Given the description of an element on the screen output the (x, y) to click on. 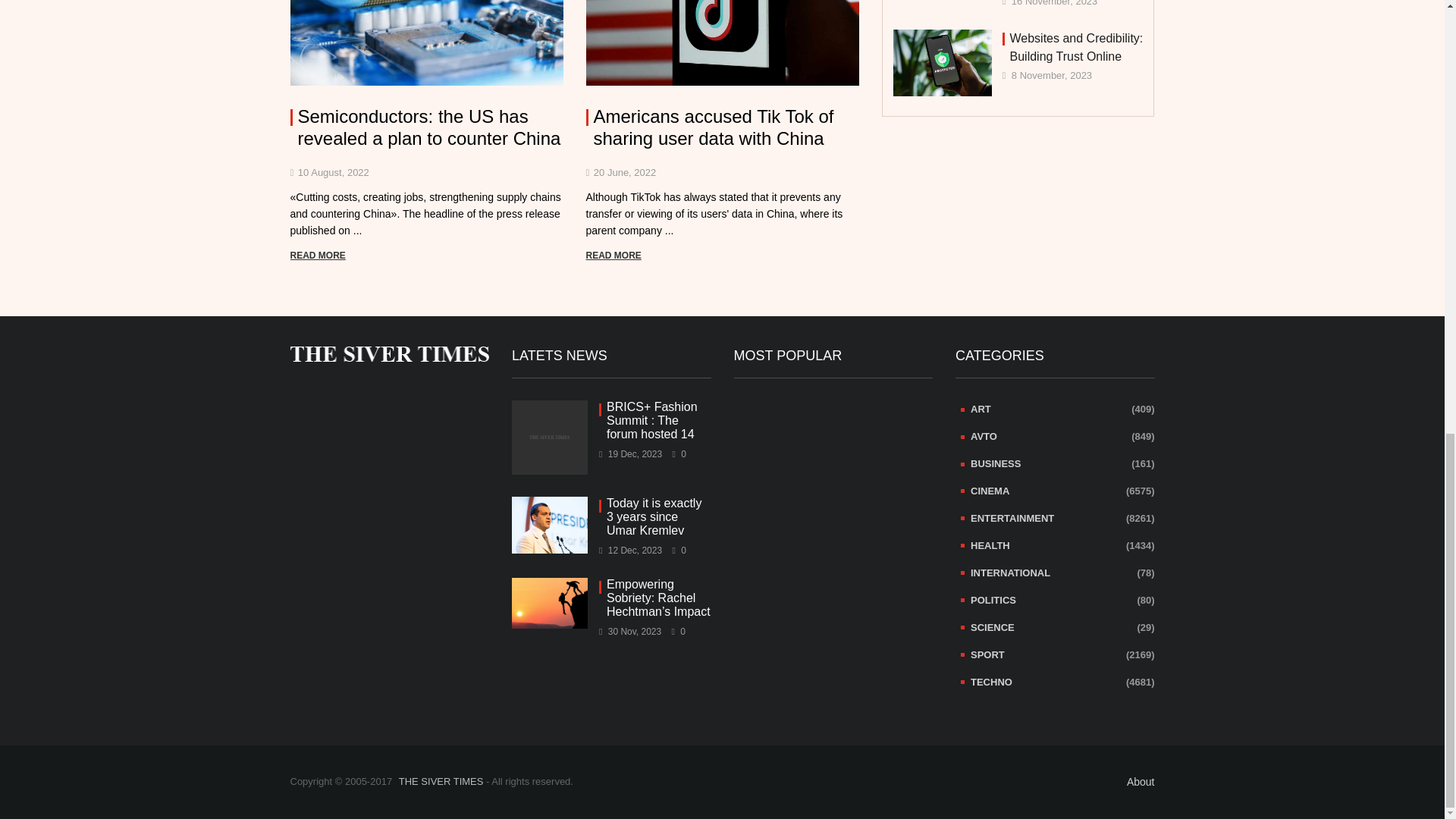
READ MORE (317, 255)
READ MORE (612, 255)
Americans accused Tik Tok of sharing user data with China (722, 127)
Semiconductors: the US has revealed a plan to counter China (425, 127)
